Given the description of an element on the screen output the (x, y) to click on. 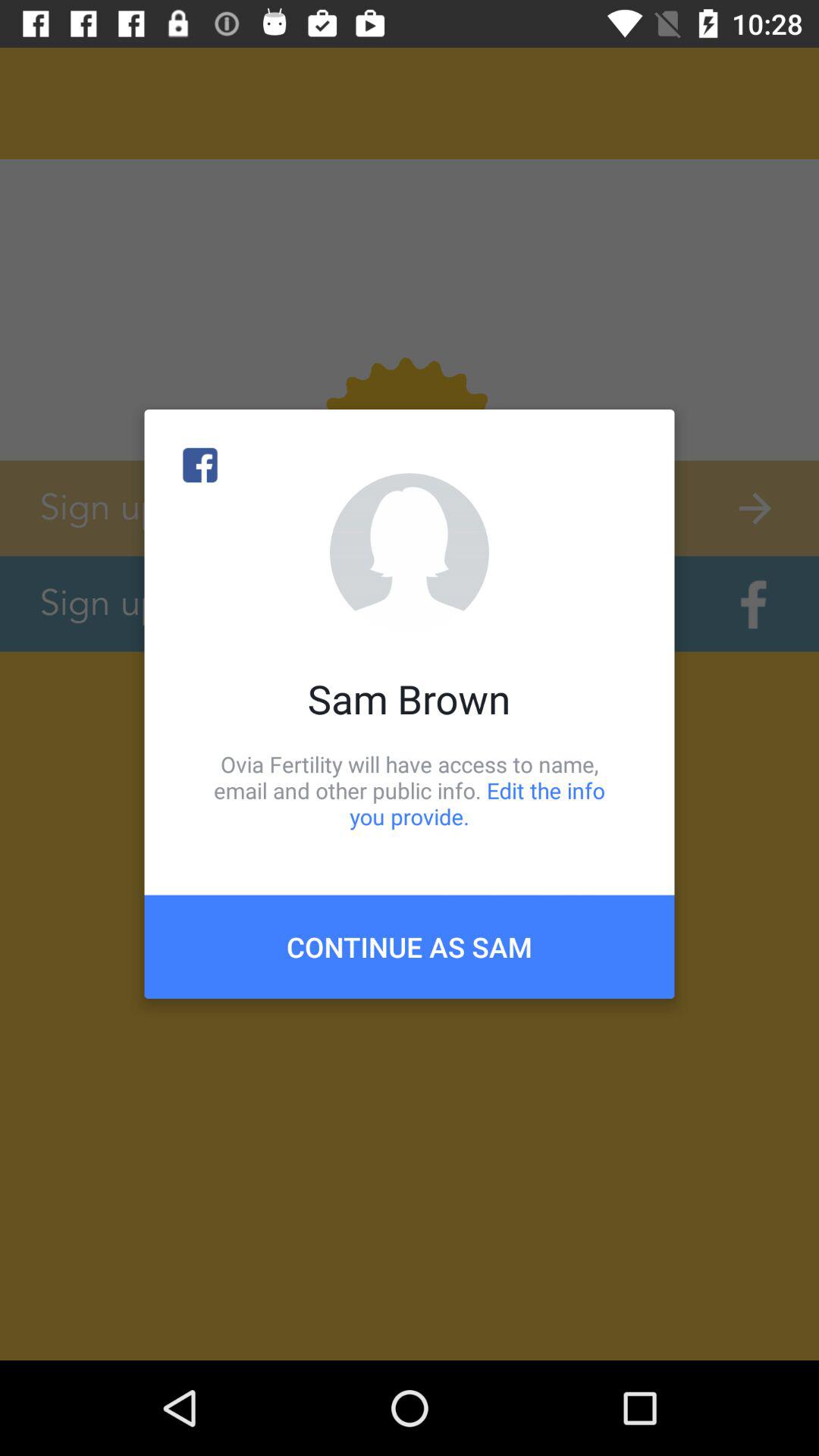
launch item below sam brown (409, 790)
